Given the description of an element on the screen output the (x, y) to click on. 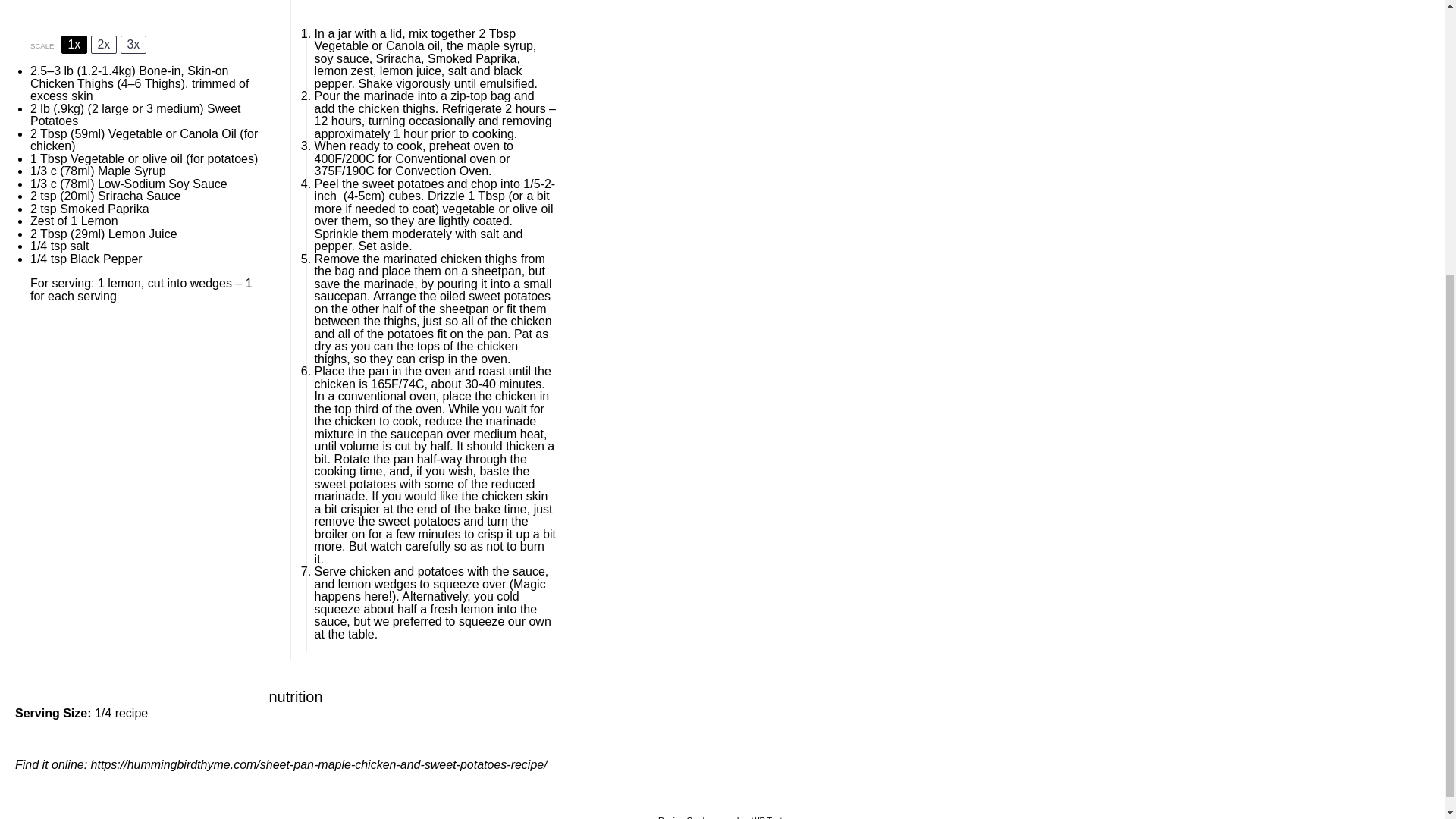
1x (74, 45)
3x (133, 45)
2x (103, 45)
